Given the description of an element on the screen output the (x, y) to click on. 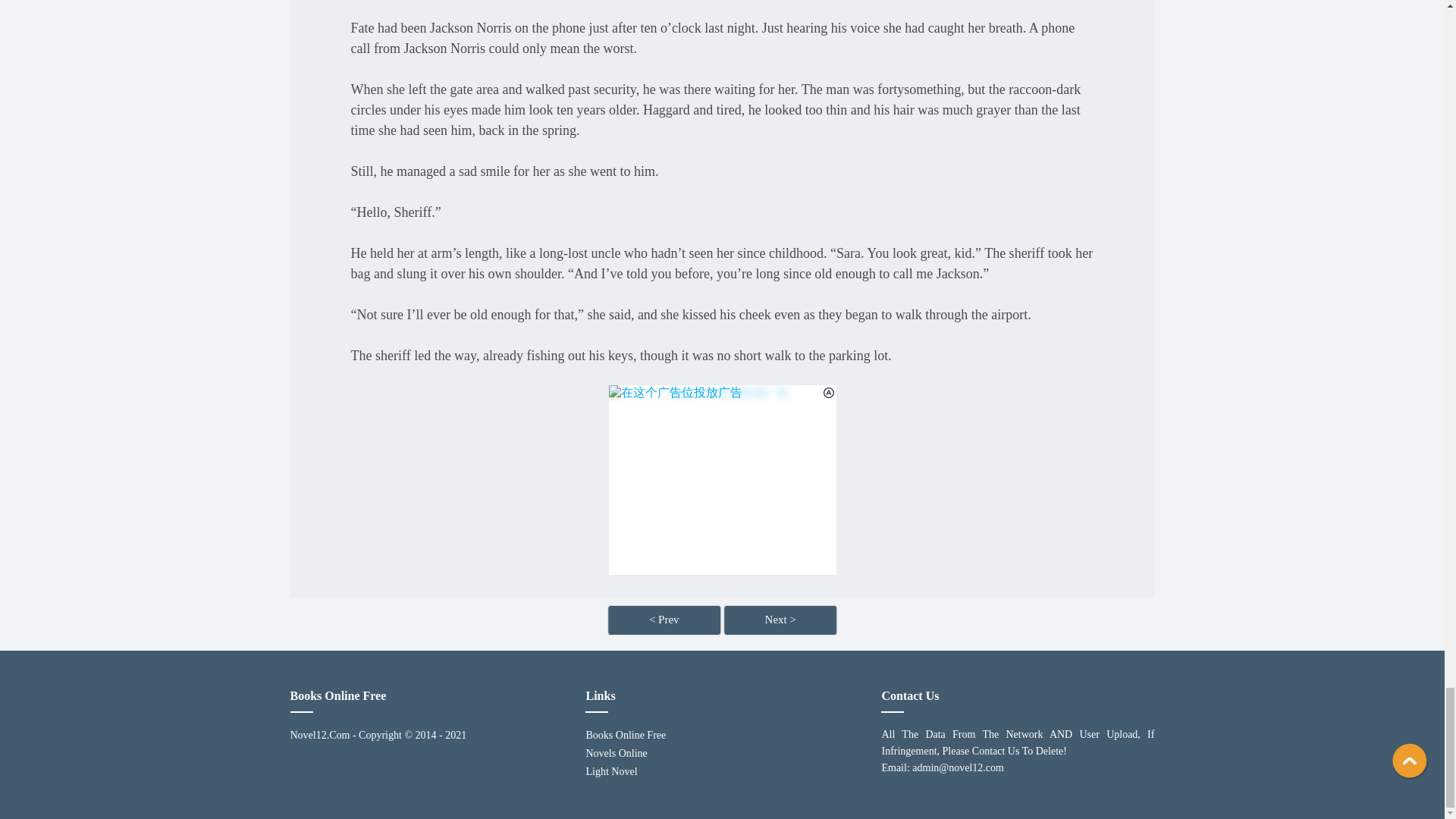
Novels Online (722, 753)
Light Novel (722, 771)
Novels Online (722, 753)
Books Online Free (722, 735)
Books Online Free (722, 735)
Novel12.Com (319, 735)
Light Novel (722, 771)
